Given the description of an element on the screen output the (x, y) to click on. 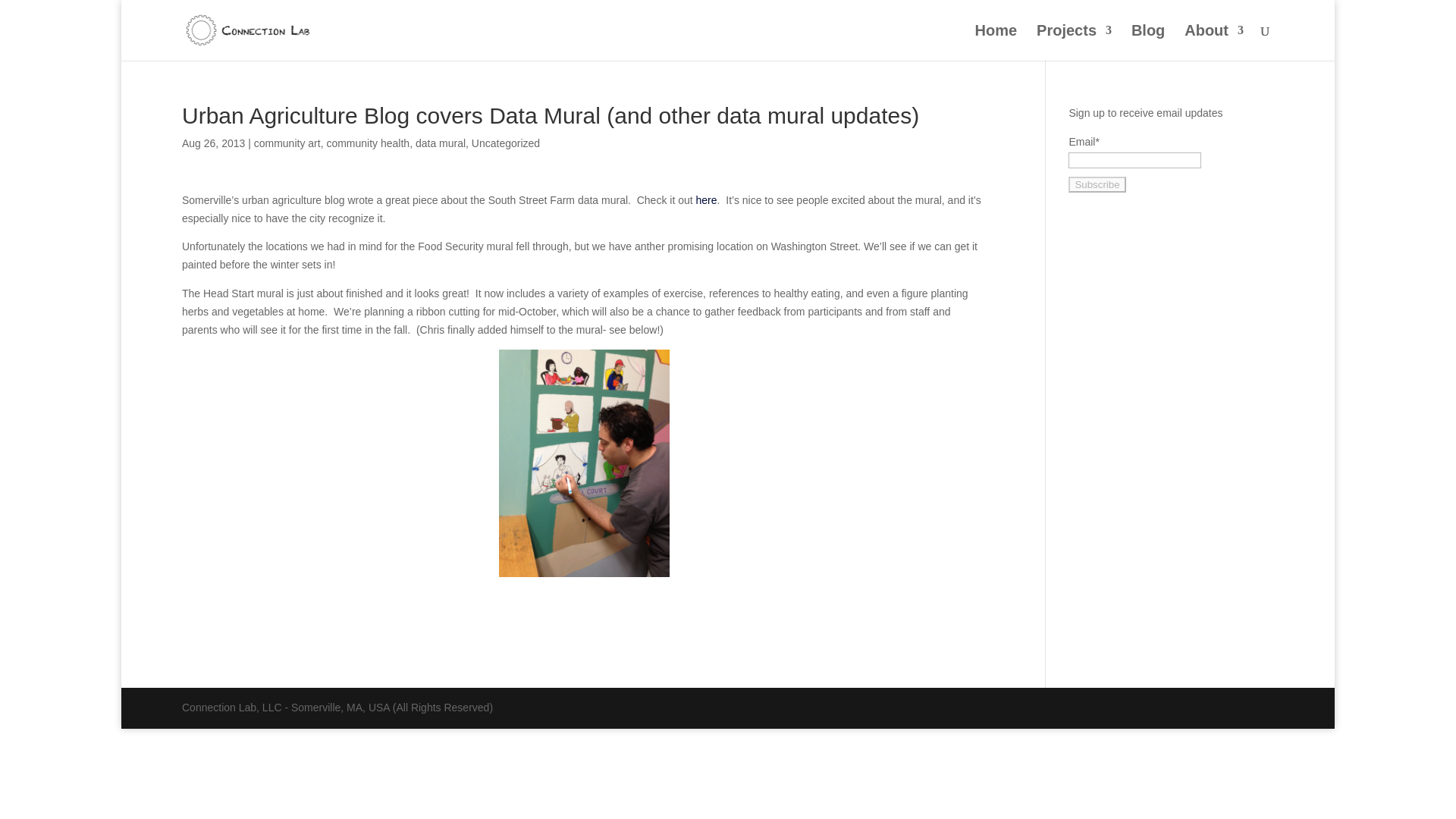
Home (996, 42)
Projects (1074, 42)
here (706, 200)
data mural (439, 143)
Uncategorized (505, 143)
community art (286, 143)
About (1214, 42)
Subscribe (1096, 184)
Subscribe (1096, 184)
community health (367, 143)
